Given the description of an element on the screen output the (x, y) to click on. 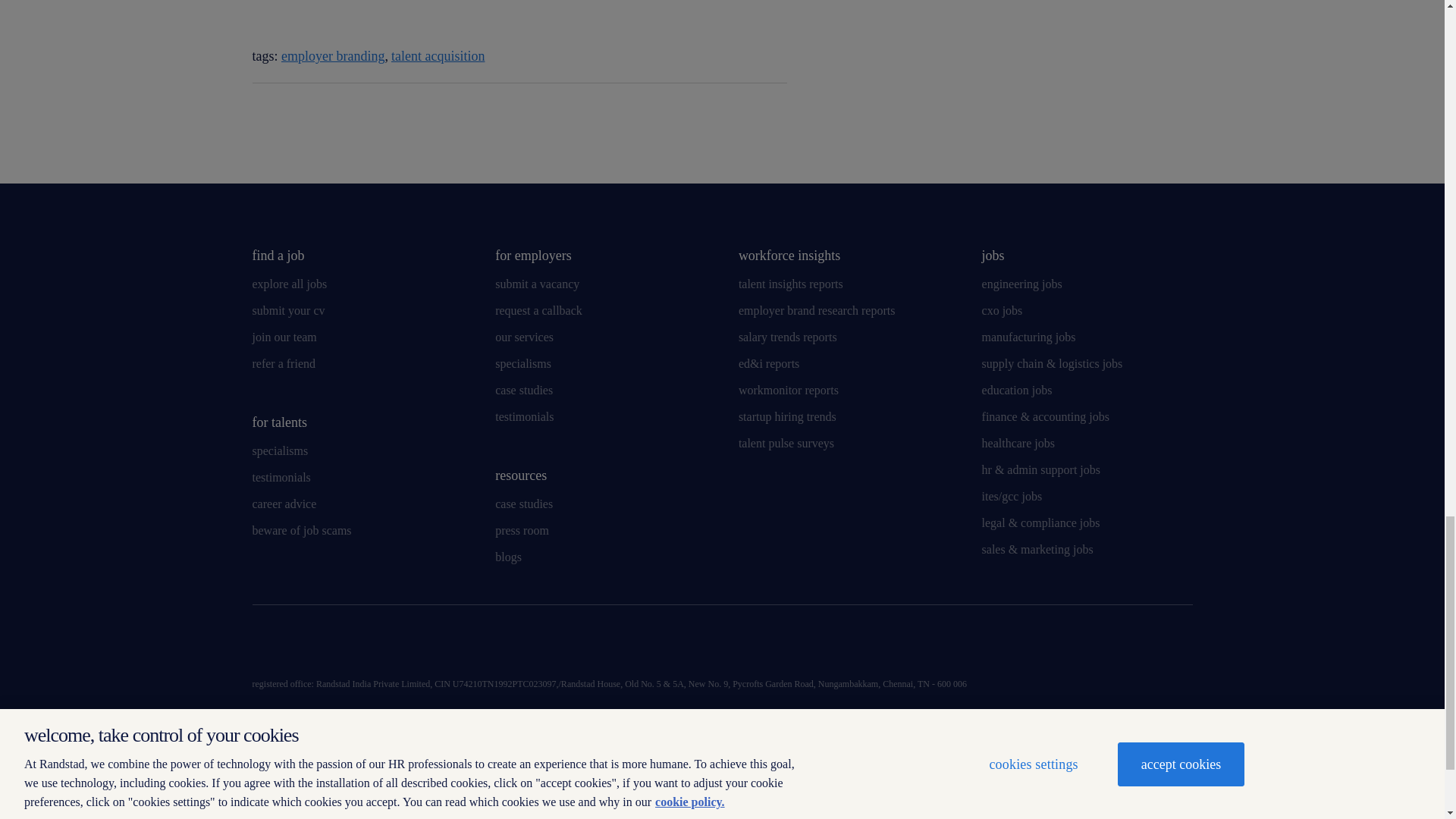
print this article (289, 113)
share this article on facebook (774, 110)
share this article on linkedin (695, 110)
click here to view our linkedin  (263, 645)
email this article (258, 113)
Security Advice (720, 772)
share this article on twitter (735, 110)
